Given the description of an element on the screen output the (x, y) to click on. 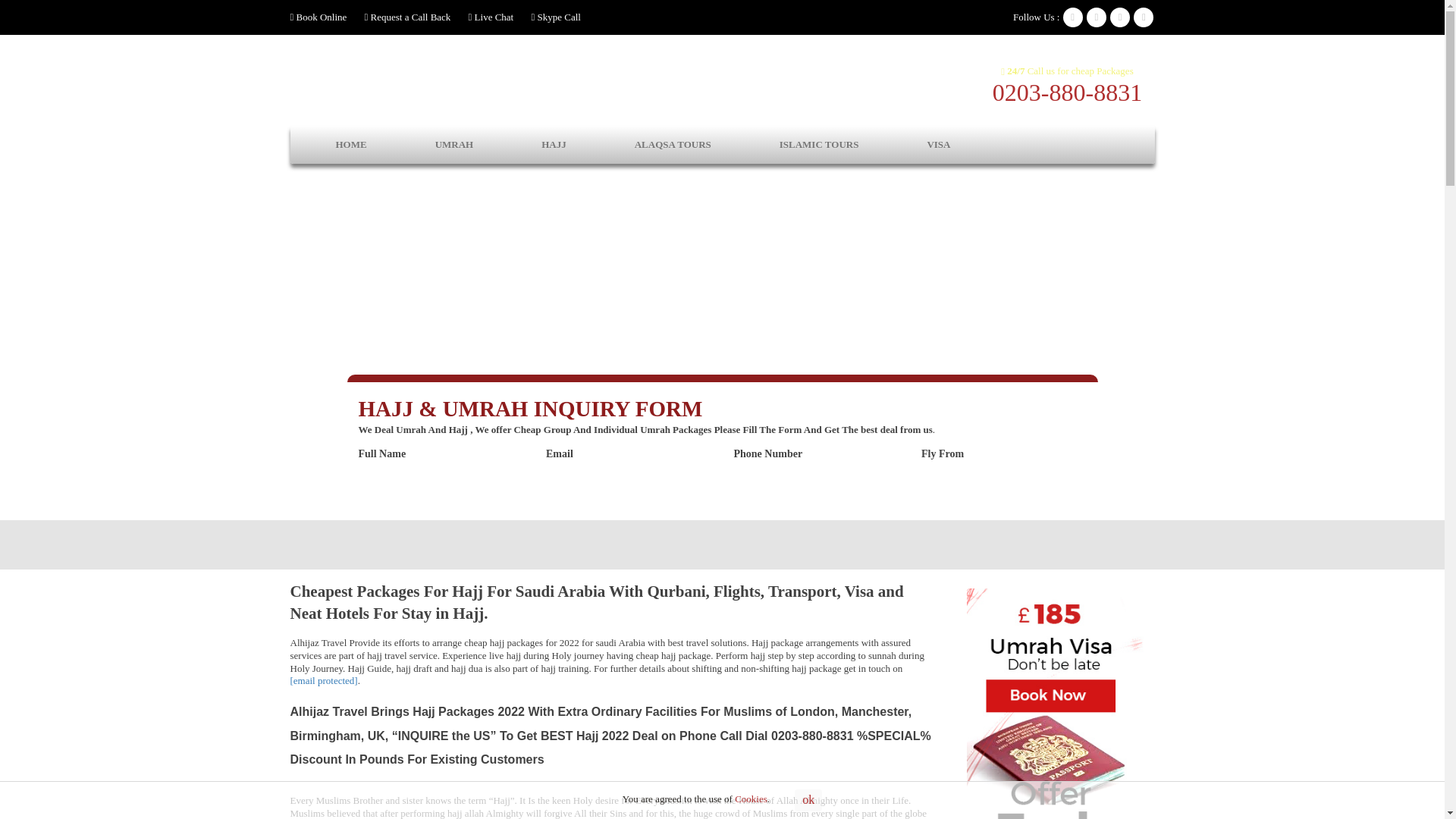
Live Chat (490, 16)
0203-880-8831 (1066, 92)
ISLAMIC TOURS (819, 144)
Book Online (317, 16)
Skype Call (555, 16)
HAJJ (552, 144)
Alhijaz Travel Live Support (490, 16)
VISA (938, 144)
UMRAH (454, 144)
ALAQSA TOURS (672, 144)
